Given the description of an element on the screen output the (x, y) to click on. 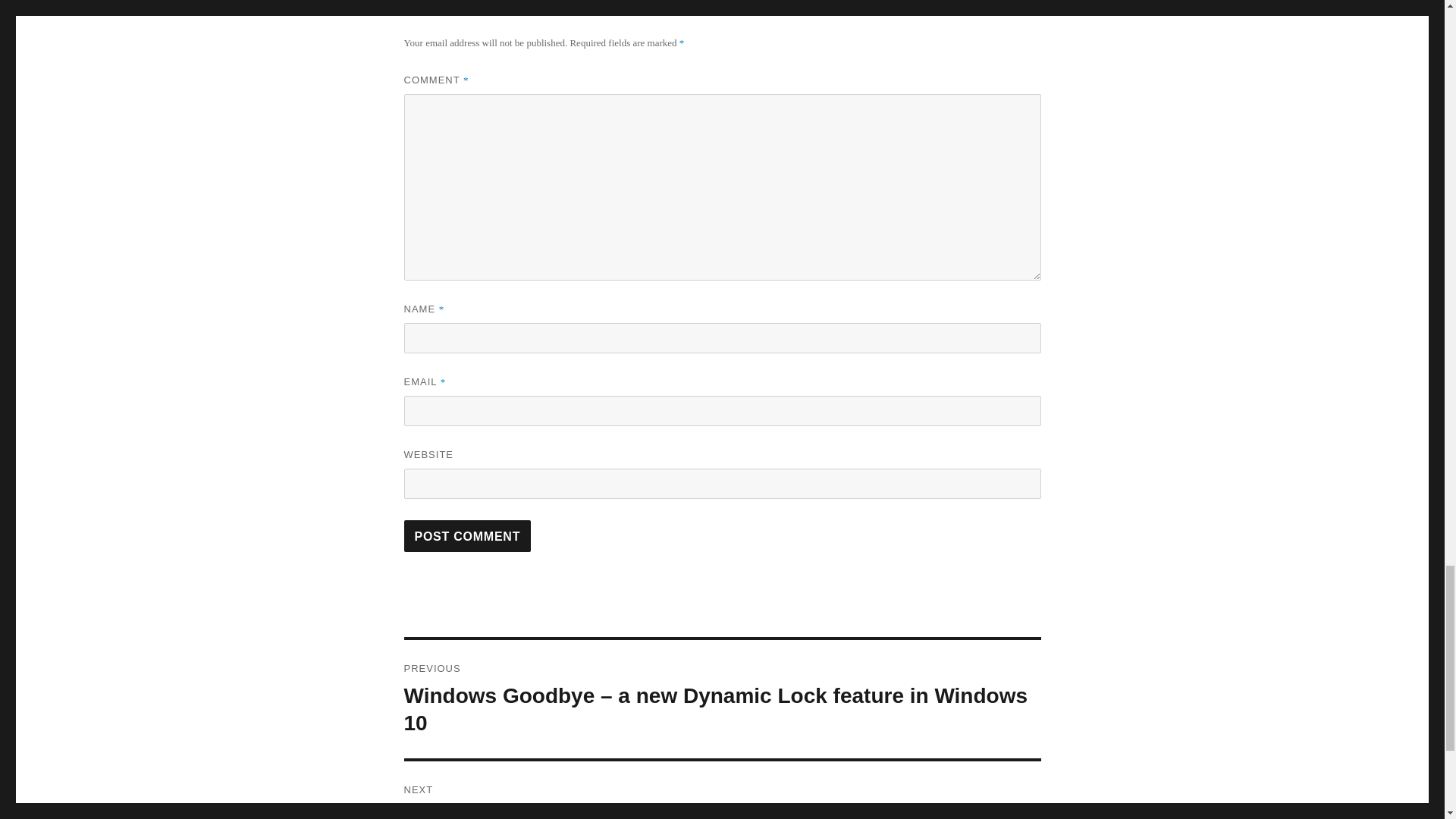
Post Comment (722, 790)
Post Comment (467, 536)
